Given the description of an element on the screen output the (x, y) to click on. 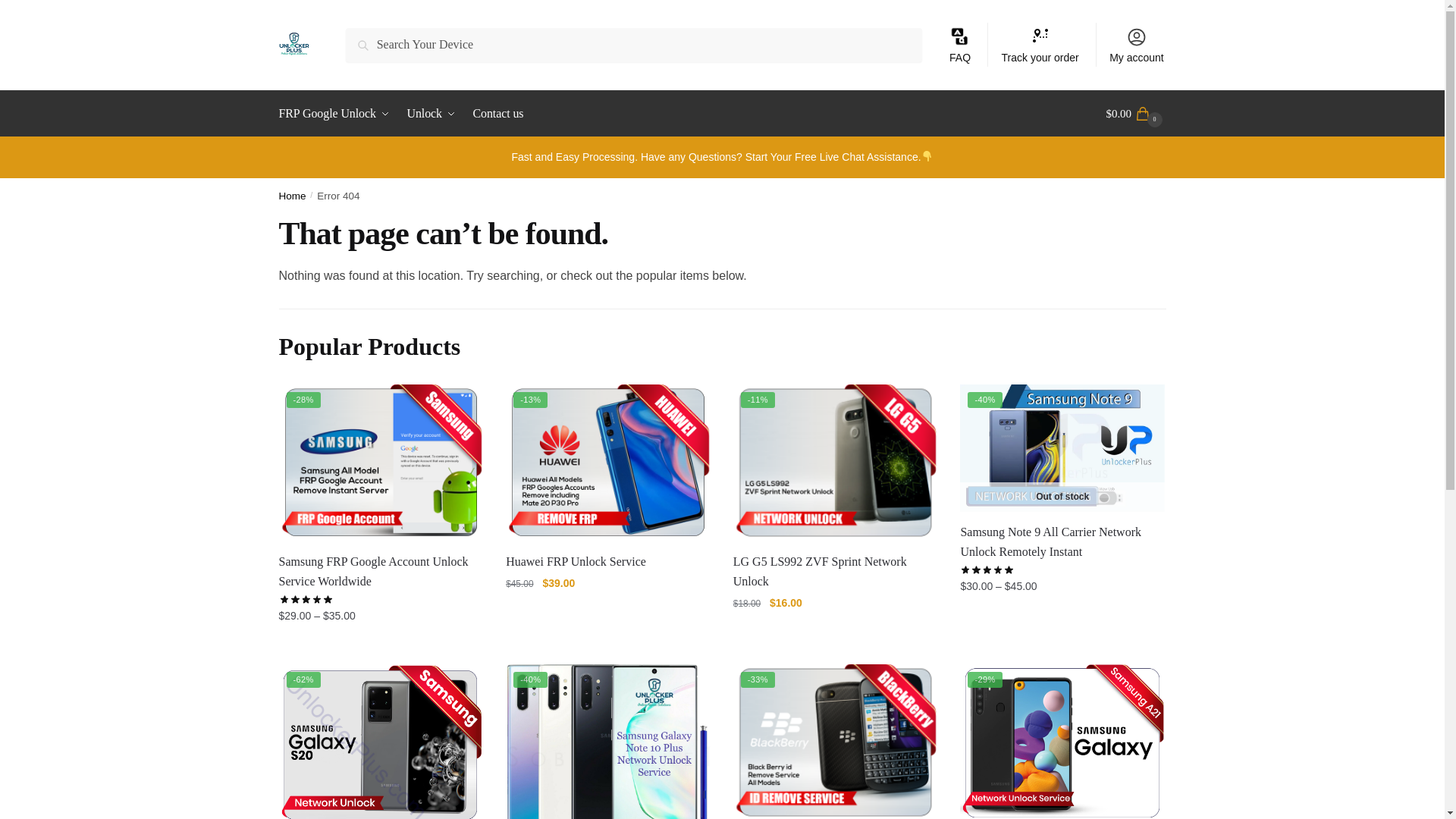
Huawei FRP Unlock Service (607, 561)
Unlock (431, 113)
BlackBerry ID Remove Service All Models (835, 741)
FAQ (959, 44)
Search (369, 38)
Huawei FRP Unlock Service (607, 463)
Home (292, 195)
View your shopping cart (1136, 113)
LG G5 LS992 ZVF Sprint Network Unlock (835, 571)
Samsung Galaxy S20 Network Unlock (381, 741)
Samsung FRP Google Account Unlock Service Worldwide (381, 463)
FRP Google Unlock (337, 113)
Unlock Samsung Galaxy Note 10 Plus (607, 741)
LG G5 LS992 ZVF Sprint Network Unlock (835, 462)
Samsung Galaxy A21 Network Unlock (1061, 741)
